Given the description of an element on the screen output the (x, y) to click on. 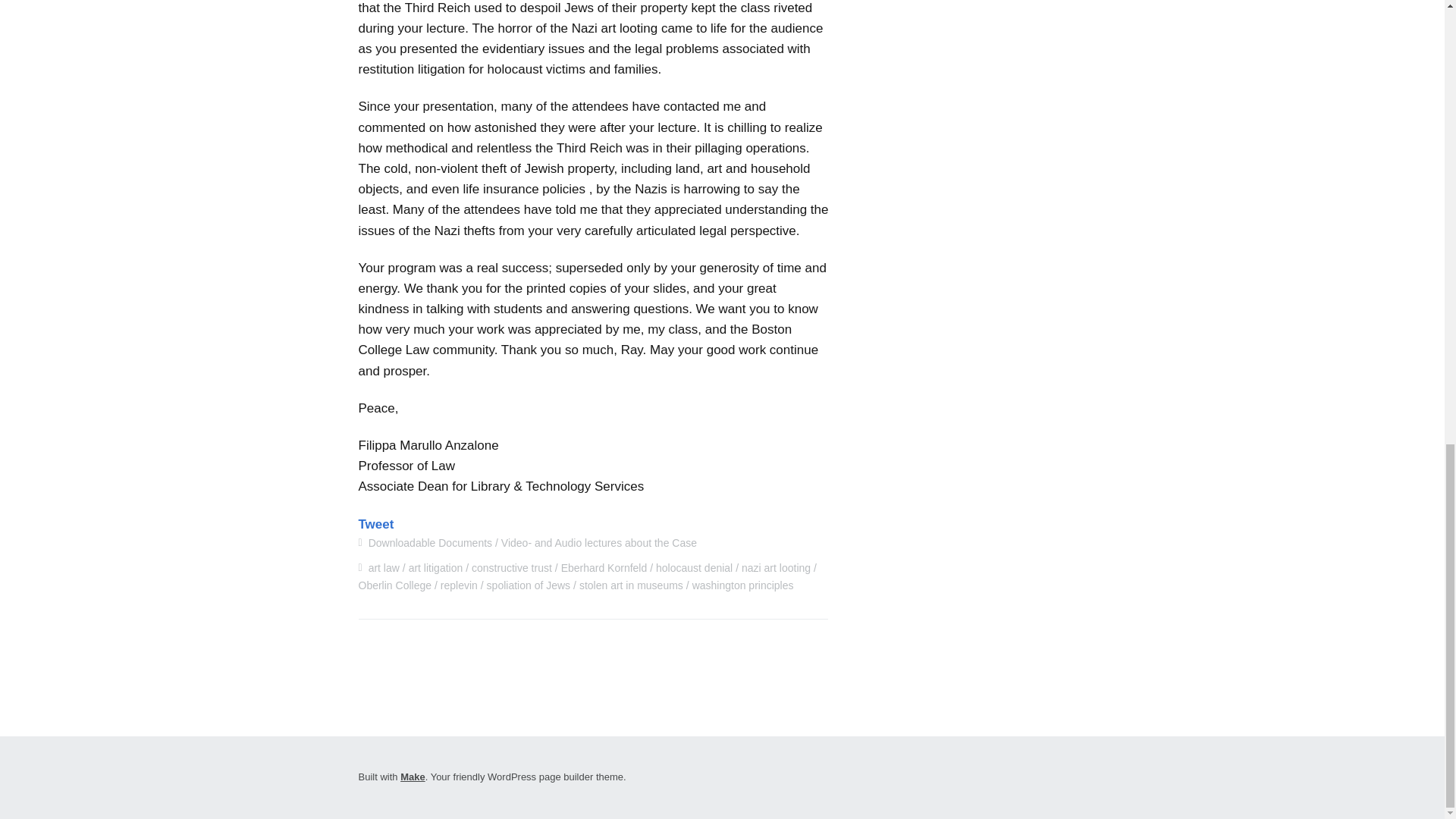
constructive trust (511, 567)
replevin (459, 585)
nazi art looting (775, 567)
art litigation (436, 567)
Downloadable Documents (430, 542)
washington principles (743, 585)
Eberhard Kornfeld (603, 567)
Tweet (375, 523)
art law (383, 567)
spoliation of Jews (528, 585)
